Given the description of an element on the screen output the (x, y) to click on. 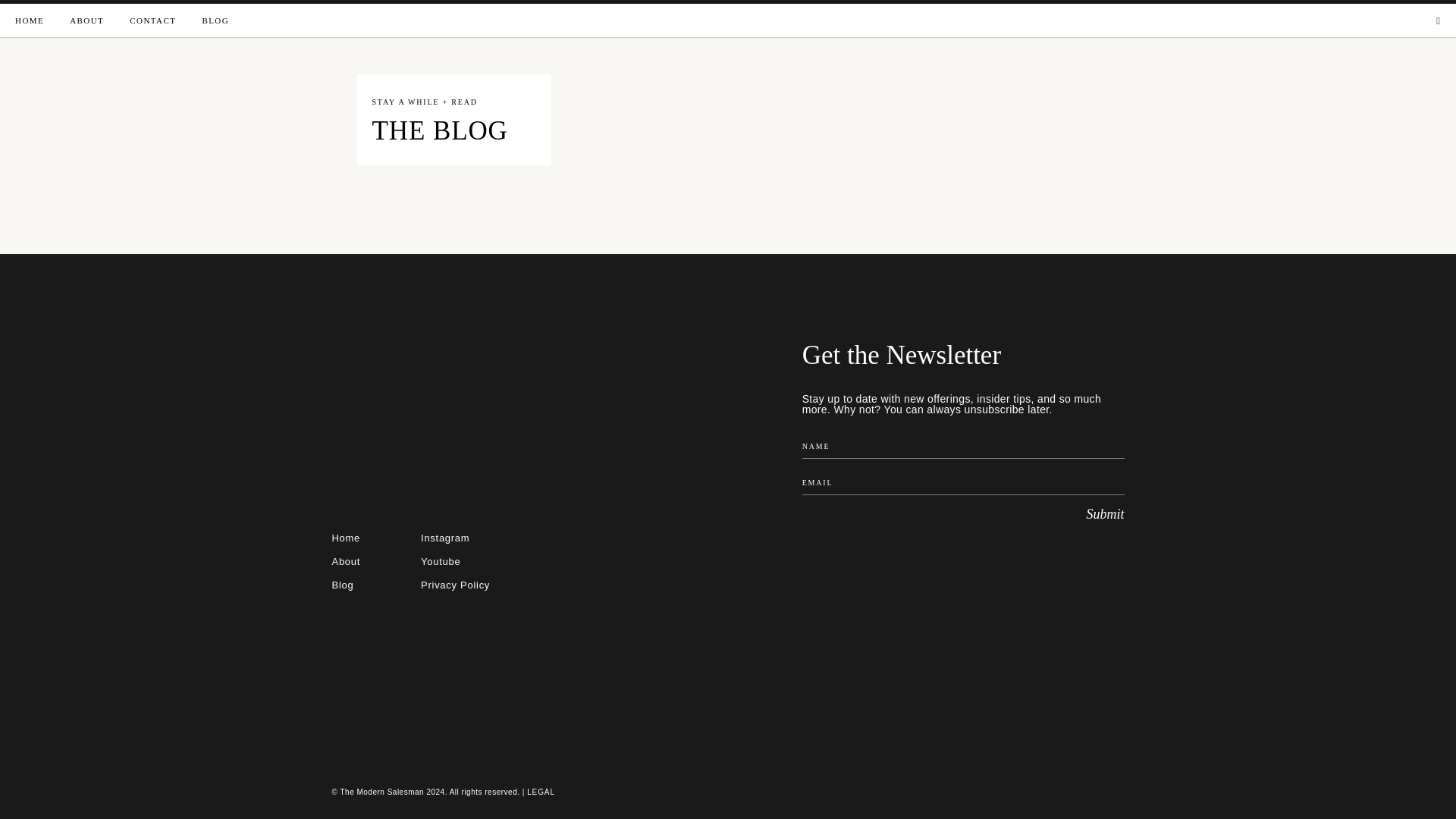
Submit (963, 514)
Home (346, 537)
Youtube (440, 561)
Privacy Policy (1002, 162)
LEGAL (454, 584)
About (540, 791)
Instagram (346, 561)
Blog (444, 537)
Submit (342, 584)
